Given the description of an element on the screen output the (x, y) to click on. 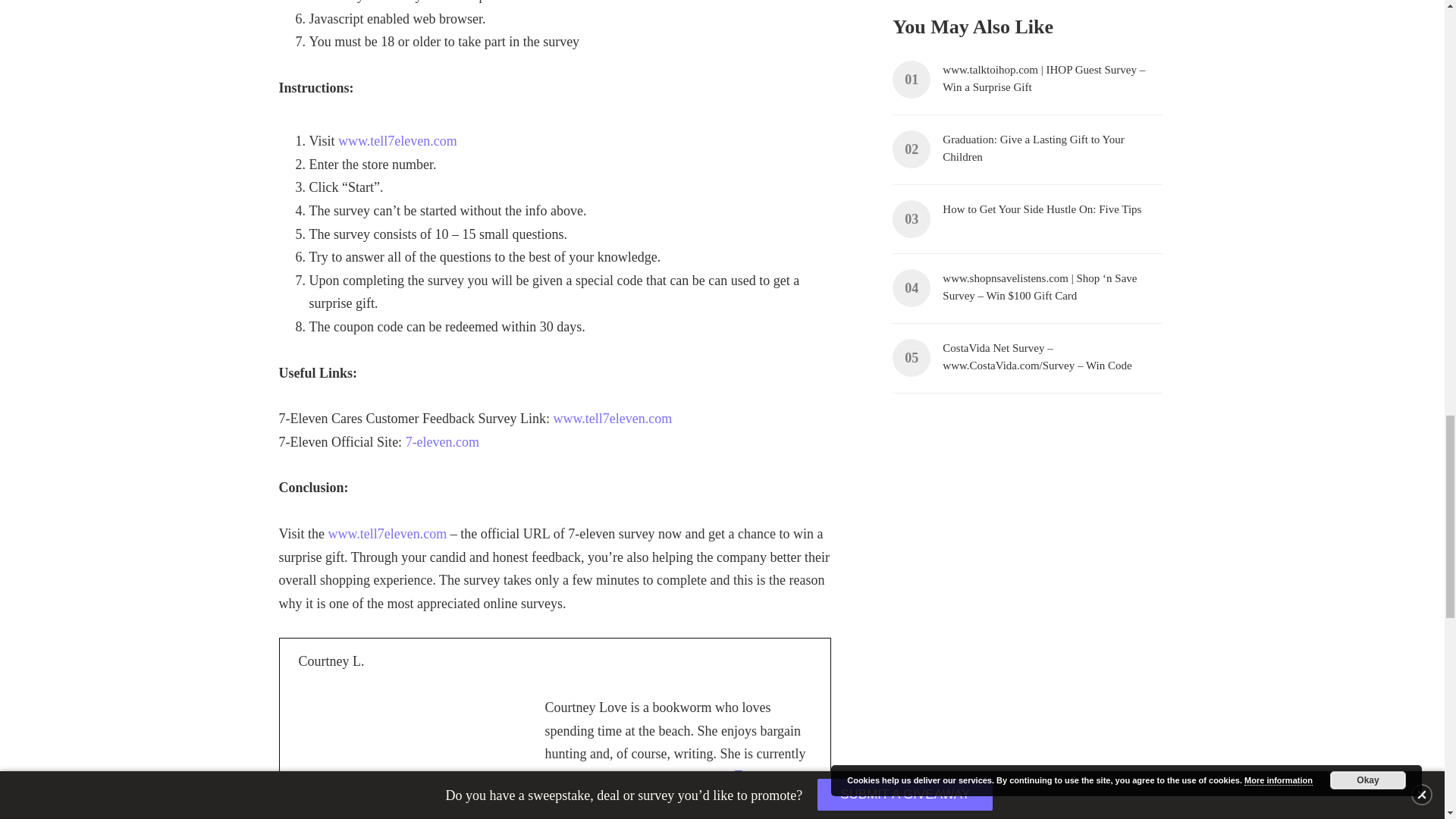
E-mail (741, 783)
7-eleven.com (442, 441)
www.tell7eleven.com (397, 140)
www.tell7eleven.com (612, 418)
www.tell7eleven.com (386, 533)
